Given the description of an element on the screen output the (x, y) to click on. 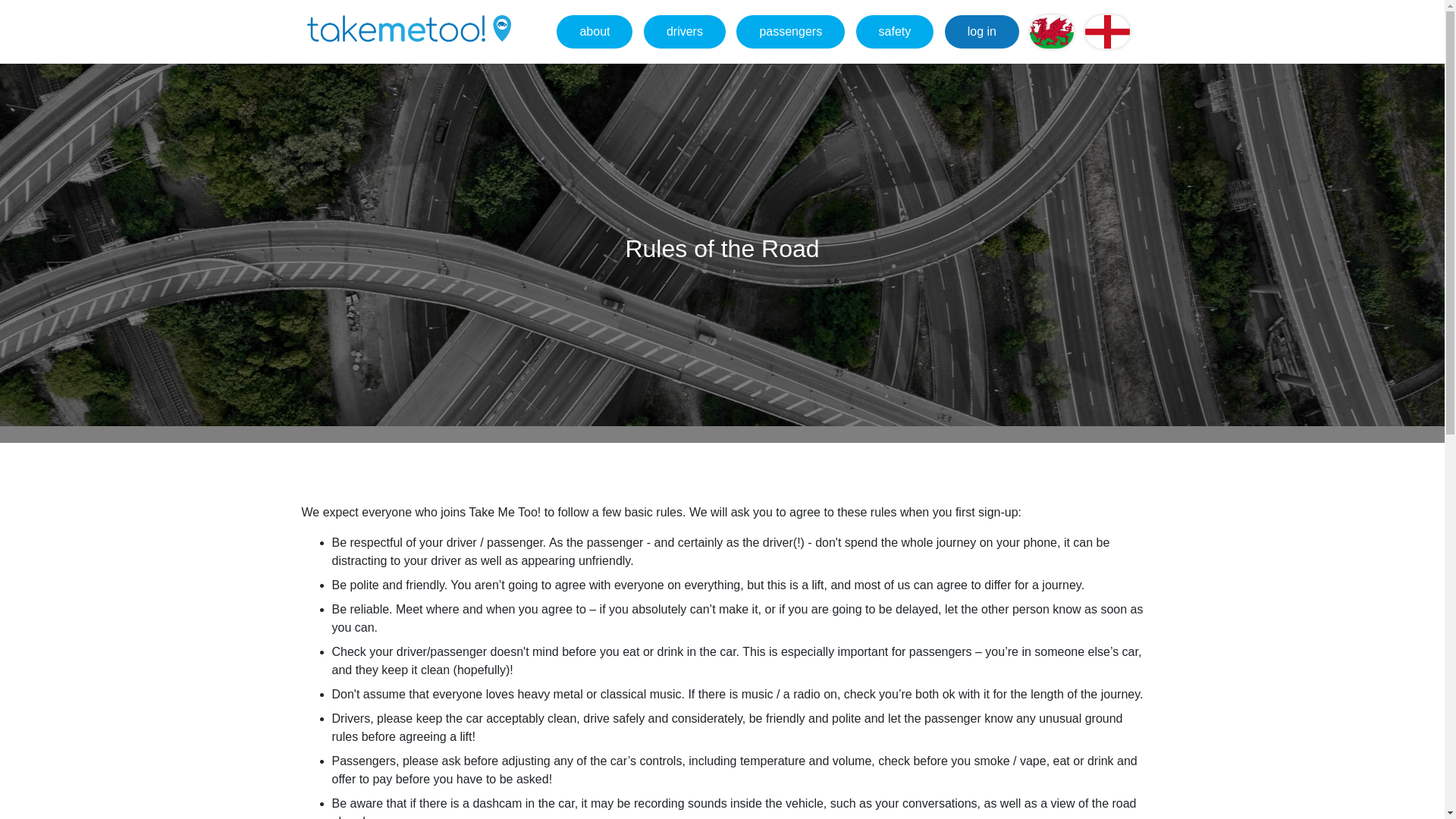
safety (895, 31)
passengers (790, 31)
drivers (684, 31)
log in (981, 31)
e (1106, 31)
c (1051, 31)
about (593, 31)
